Given the description of an element on the screen output the (x, y) to click on. 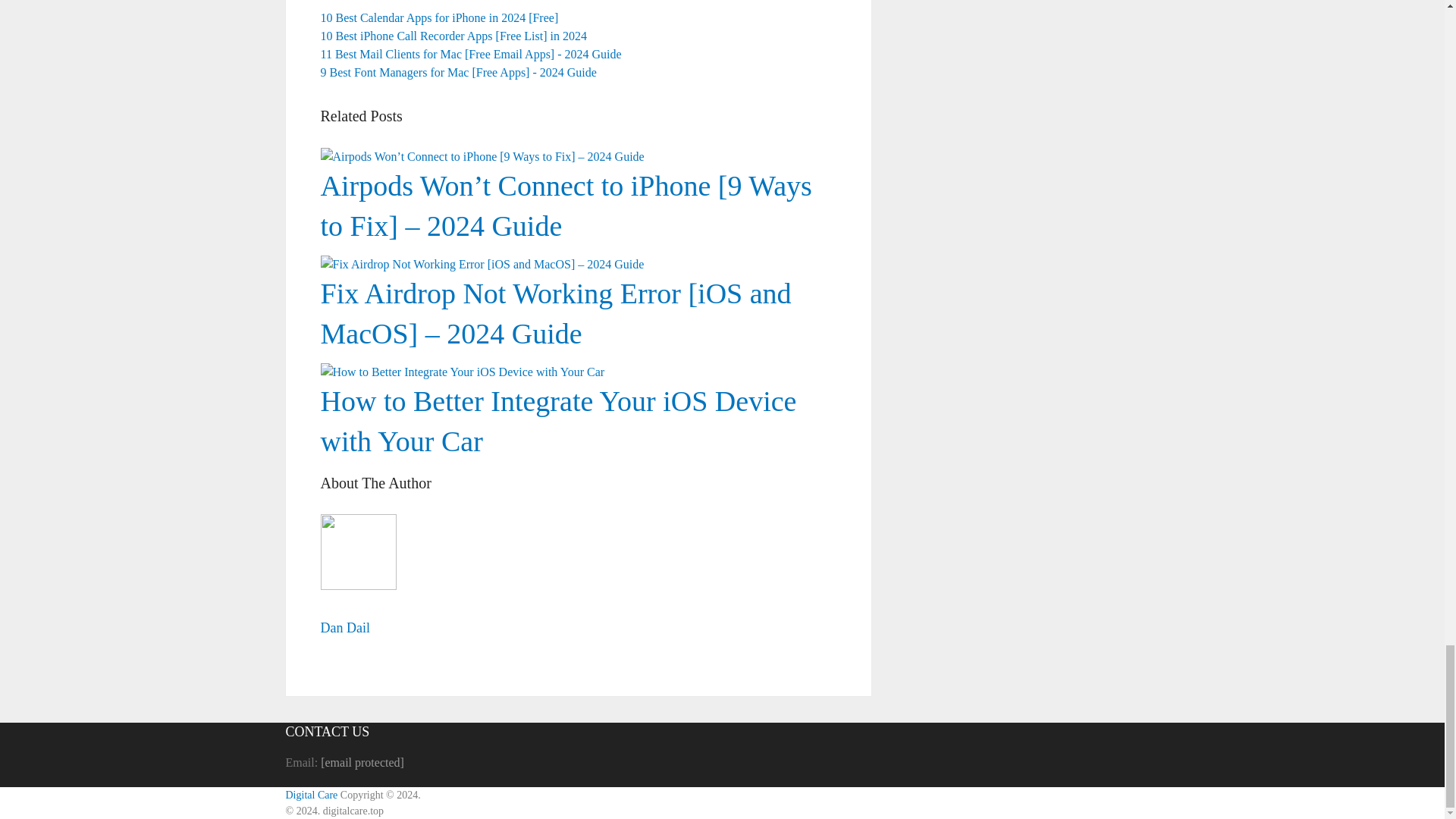
How to Better Integrate Your iOS Device with Your Car (462, 372)
How to Better Integrate Your iOS Device with Your Car (558, 420)
Dan Dail (344, 627)
How to Better Integrate Your iOS Device with Your Car (577, 327)
 Tech Help, News and Reviews 2024 (311, 794)
How to Better Integrate Your iOS Device with Your Car (558, 420)
